Given the description of an element on the screen output the (x, y) to click on. 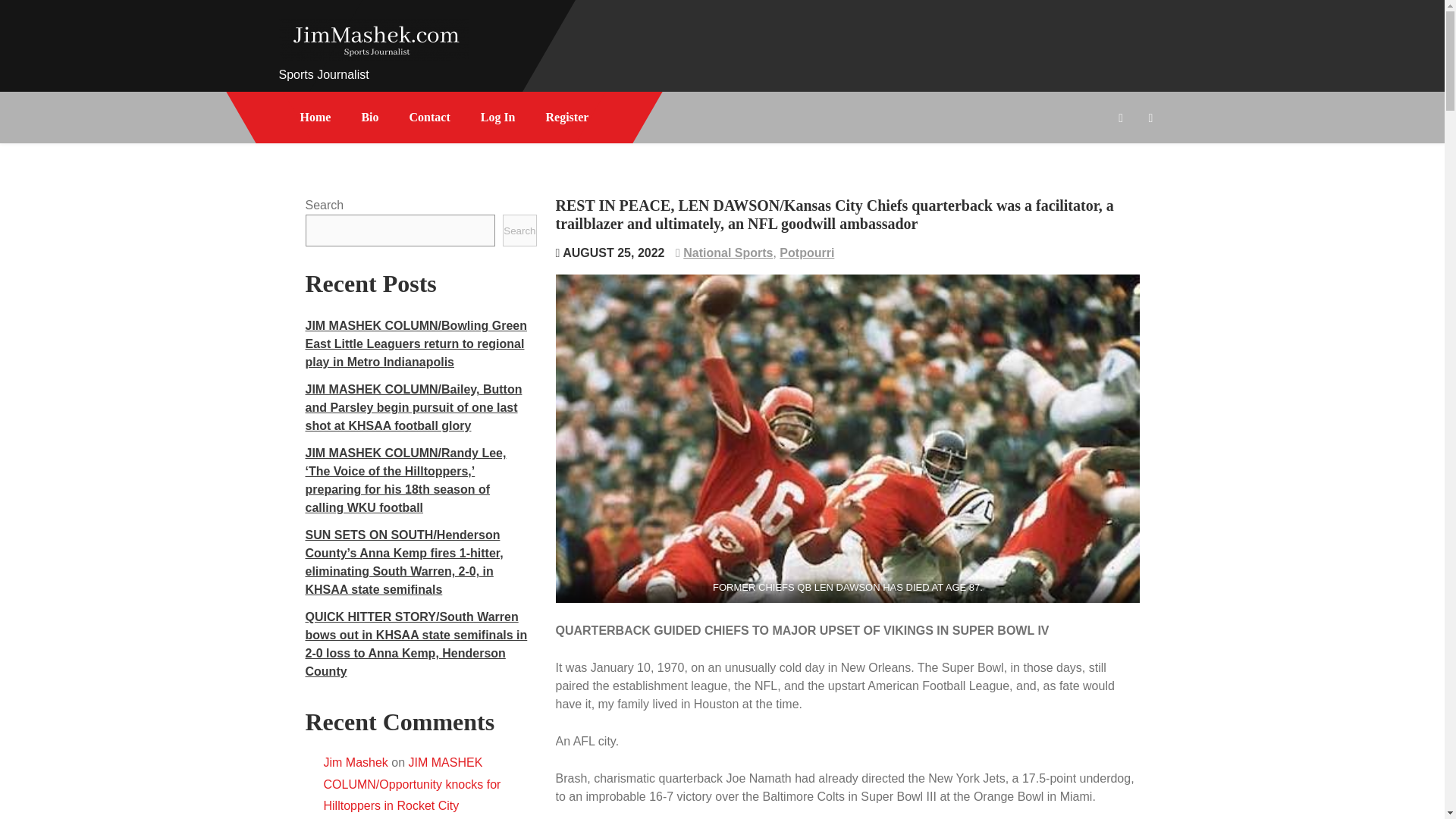
Register (567, 117)
National Sports (727, 252)
Contact (430, 117)
Jim Mashek (342, 80)
Jim Mashek (355, 762)
Home (315, 117)
Potpourri (806, 252)
Log In (498, 117)
Search (518, 230)
